Given the description of an element on the screen output the (x, y) to click on. 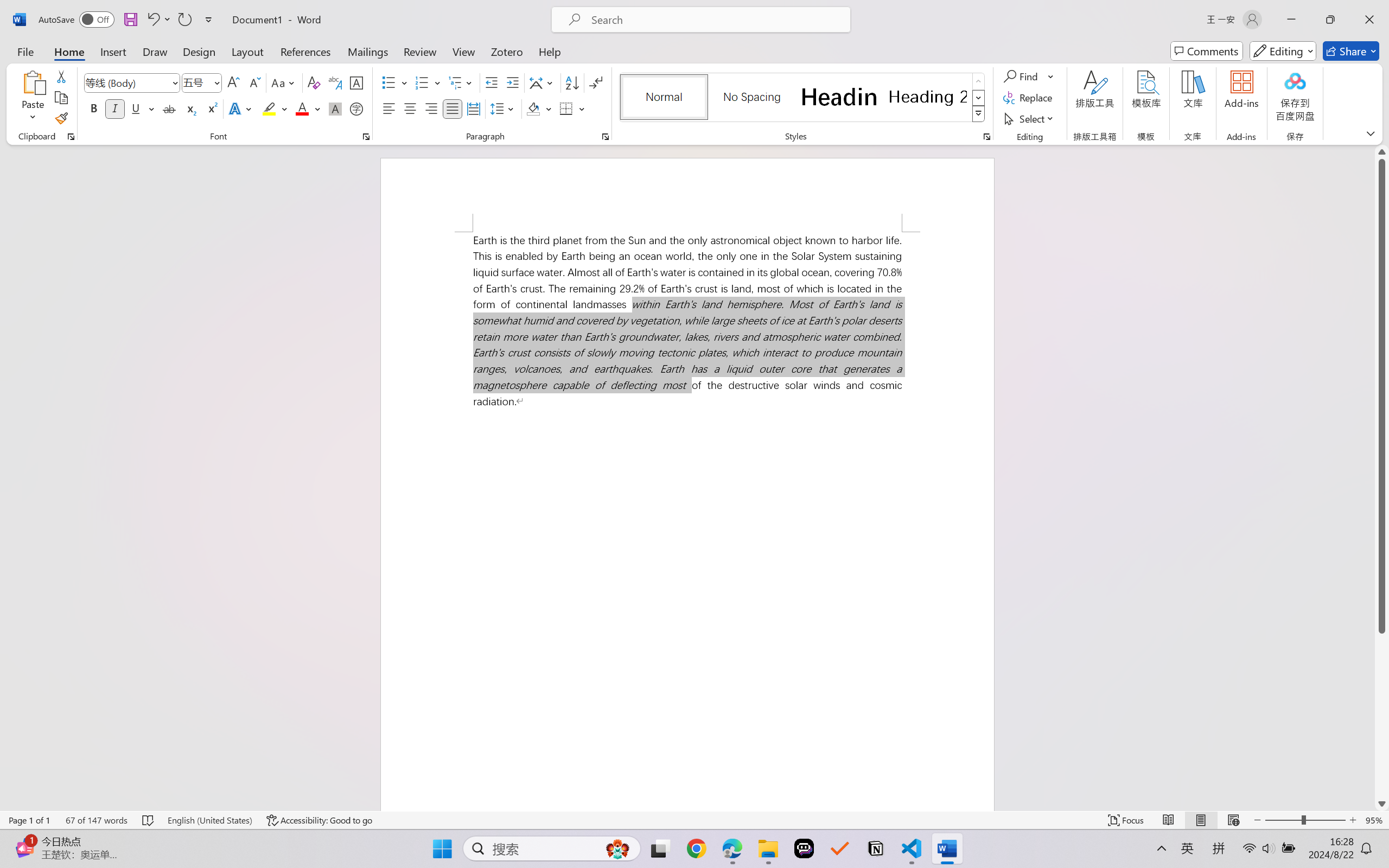
Change Case (284, 82)
Heading 1 (839, 96)
Replace... (1029, 97)
Font Color Red (302, 108)
Show/Hide Editing Marks (595, 82)
Styles... (986, 136)
Align Right (431, 108)
Bold (94, 108)
